Given the description of an element on the screen output the (x, y) to click on. 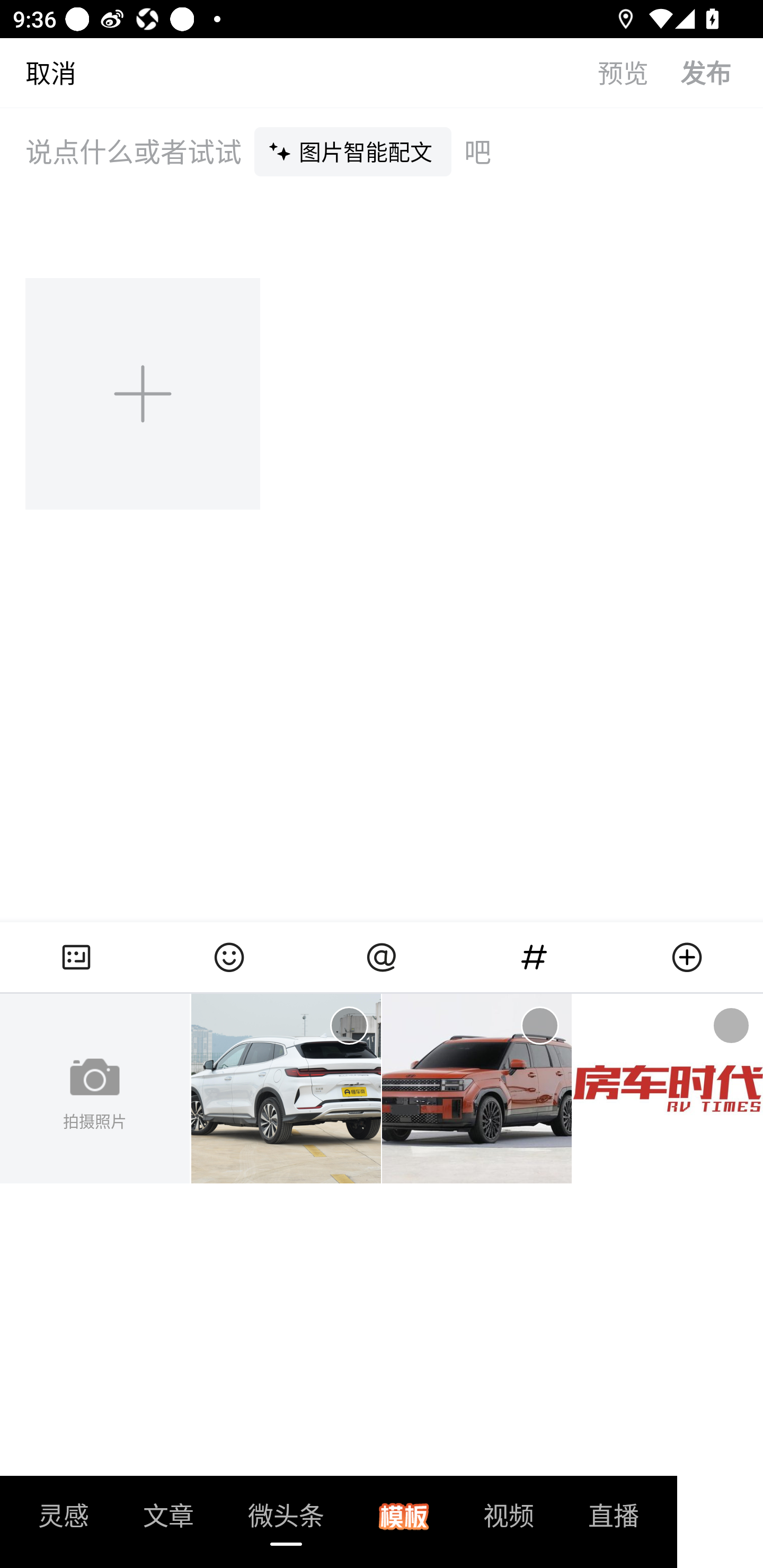
取消 (38, 71)
预览 (638, 71)
发布 (721, 71)
图片智能配文 (352, 151)
添加图片 (144, 393)
相册 (76, 956)
表情 (228, 956)
at (381, 956)
话题 (533, 956)
更多 (686, 956)
拍摄照片 (94, 1088)
图片1 (285, 1088)
未选中 (348, 1025)
图片2 (476, 1088)
未选中 (539, 1025)
图片3 (668, 1088)
未选中 (731, 1025)
灵感 (63, 1521)
文章 (168, 1521)
微头条 (285, 1521)
视频 (508, 1521)
直播 (613, 1521)
